Given the description of an element on the screen output the (x, y) to click on. 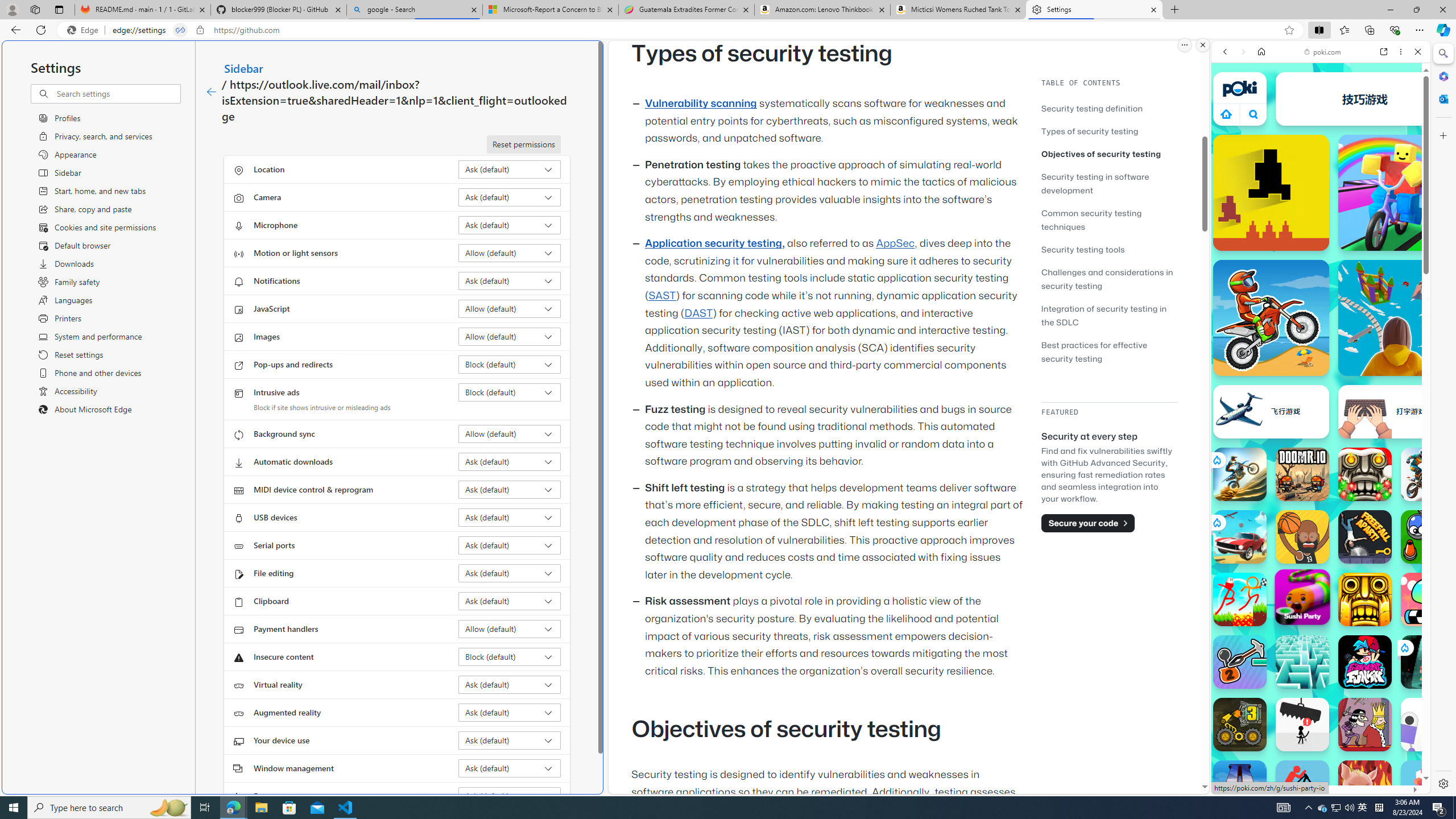
Your device use Ask (default) (509, 740)
MIDI device control & reprogram Ask (default) (509, 489)
Quivershot Quivershot (1427, 661)
Objectives of security testing (1109, 153)
Reset permissions (523, 144)
More options (1401, 51)
Two Player Games (1320, 323)
DAST (698, 312)
Search (1442, 53)
AppSec (895, 243)
Notifications Ask (default) (509, 280)
Click to scroll right (1407, 549)
Augmented reality Ask (default) (509, 712)
Microphone Ask (default) (509, 225)
Friday Night Funkin' (1364, 661)
